Given the description of an element on the screen output the (x, y) to click on. 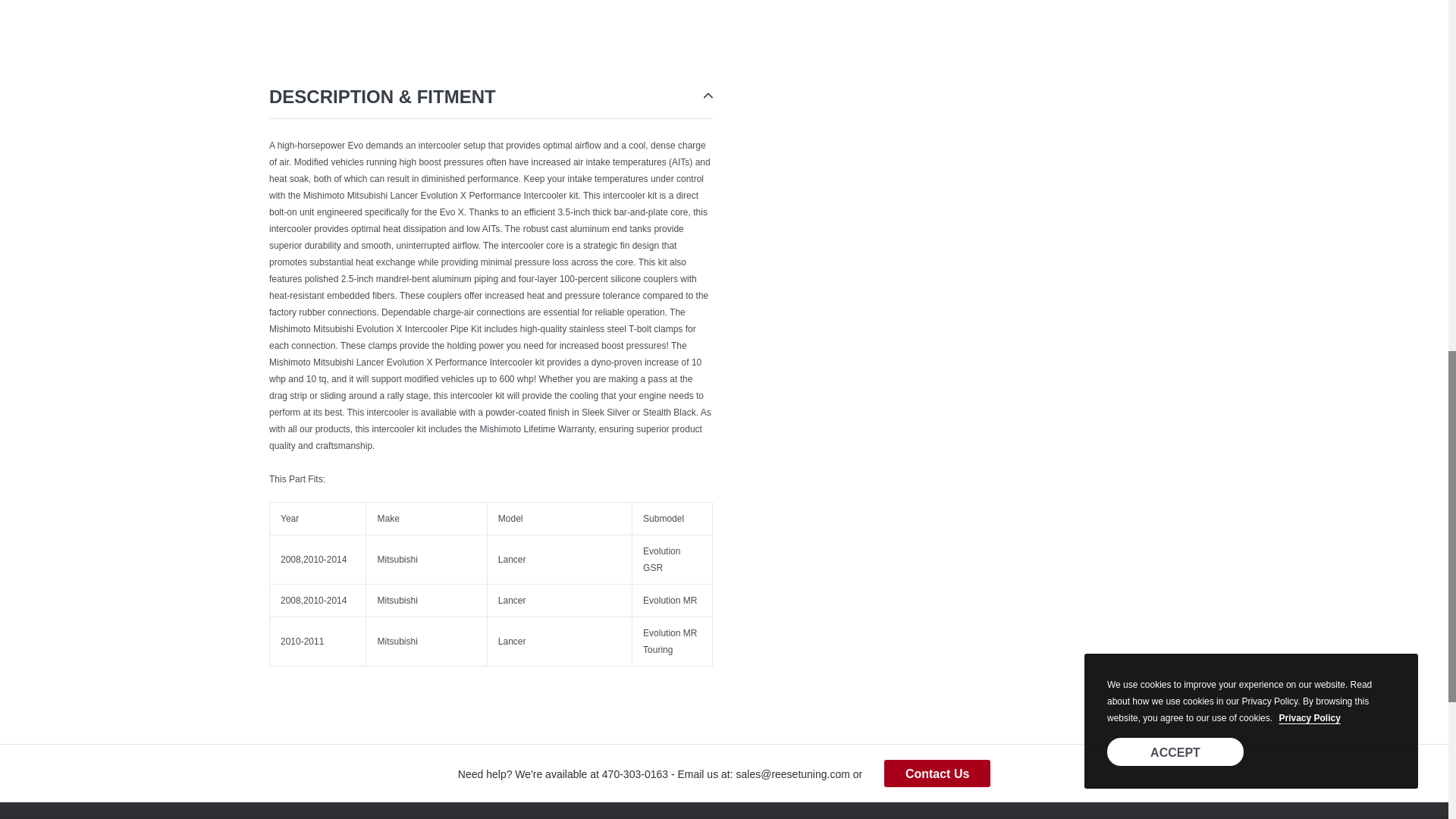
1 (777, 37)
Contact (936, 773)
Add to cart (930, 37)
